Given the description of an element on the screen output the (x, y) to click on. 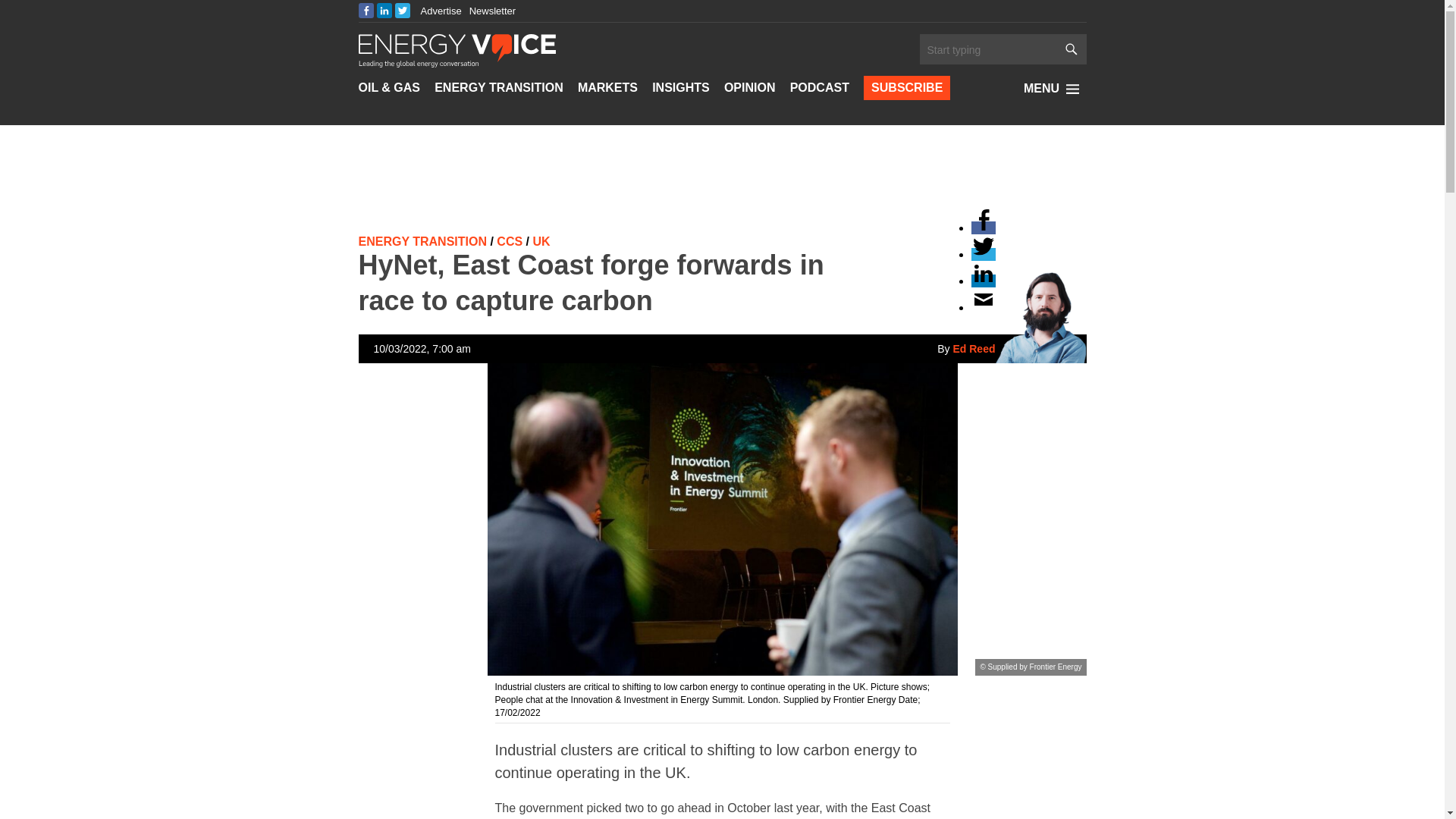
Twitter (401, 10)
Newsletter (491, 11)
Facebook (365, 10)
Email (862, 31)
Energy Voice (456, 49)
Advertise (440, 11)
Email (982, 307)
Facebook (982, 227)
MARKETS (607, 87)
MENU (1054, 87)
